Given the description of an element on the screen output the (x, y) to click on. 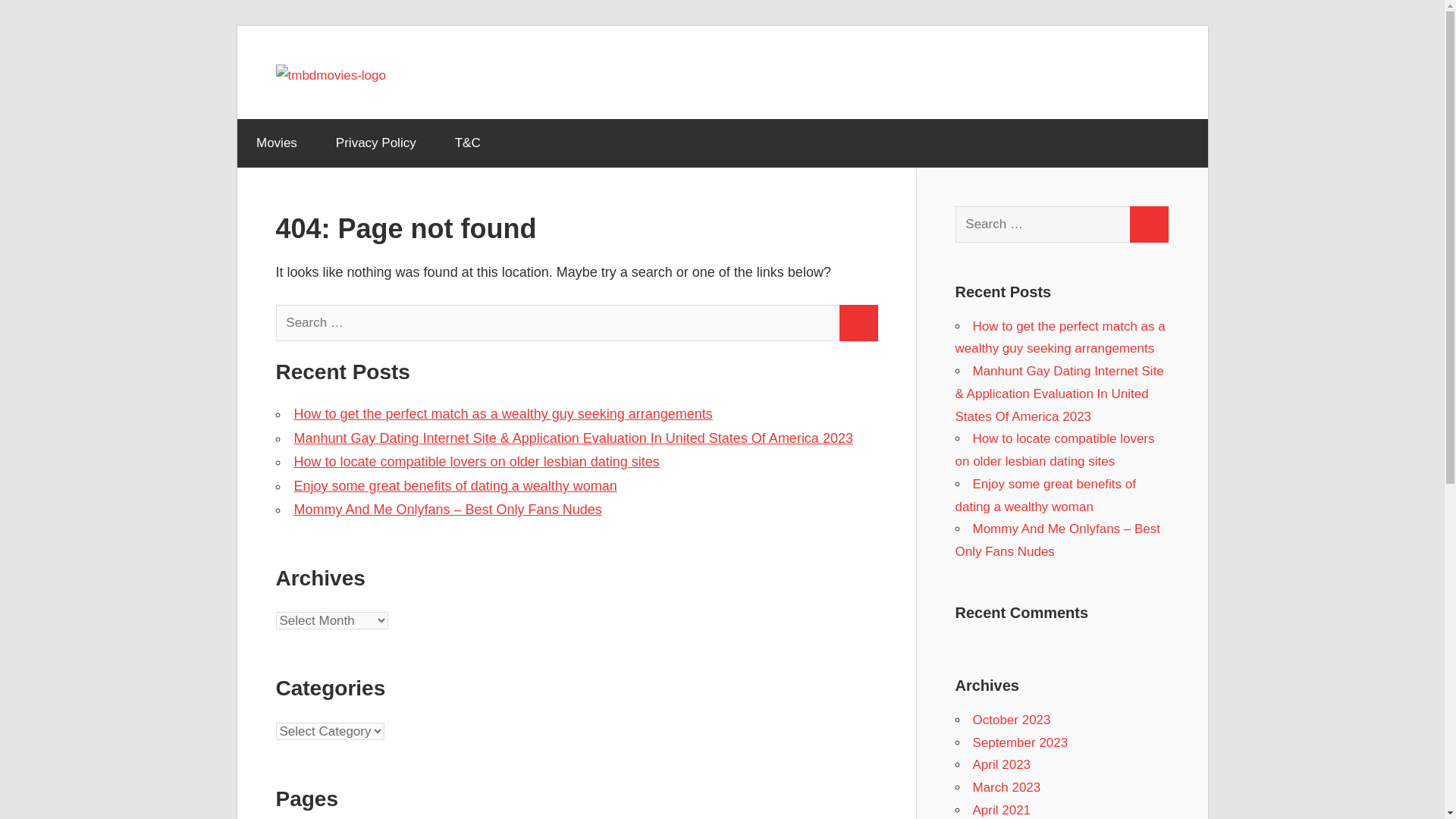
Privacy Policy (375, 142)
October 2023 (1010, 719)
Movies (275, 142)
April 2021 (1001, 810)
April 2023 (1001, 764)
Enjoy some great benefits of dating a wealthy woman (455, 485)
Search for: (558, 322)
September 2023 (1019, 742)
March 2023 (1006, 787)
Search (1148, 224)
Enjoy some great benefits of dating a wealthy woman (1045, 495)
